Given the description of an element on the screen output the (x, y) to click on. 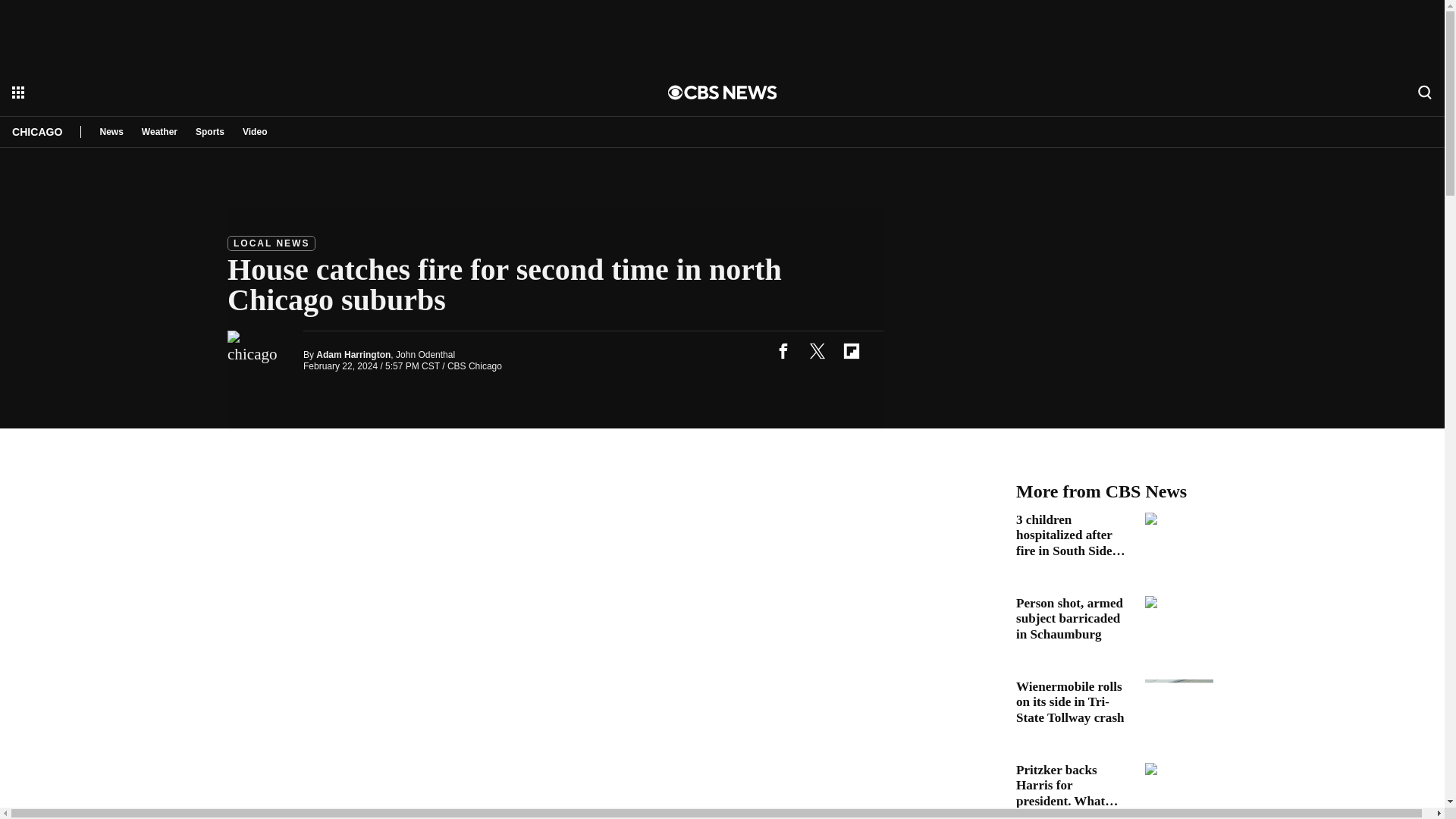
flipboard (850, 350)
facebook (782, 350)
twitter (816, 350)
